Given the description of an element on the screen output the (x, y) to click on. 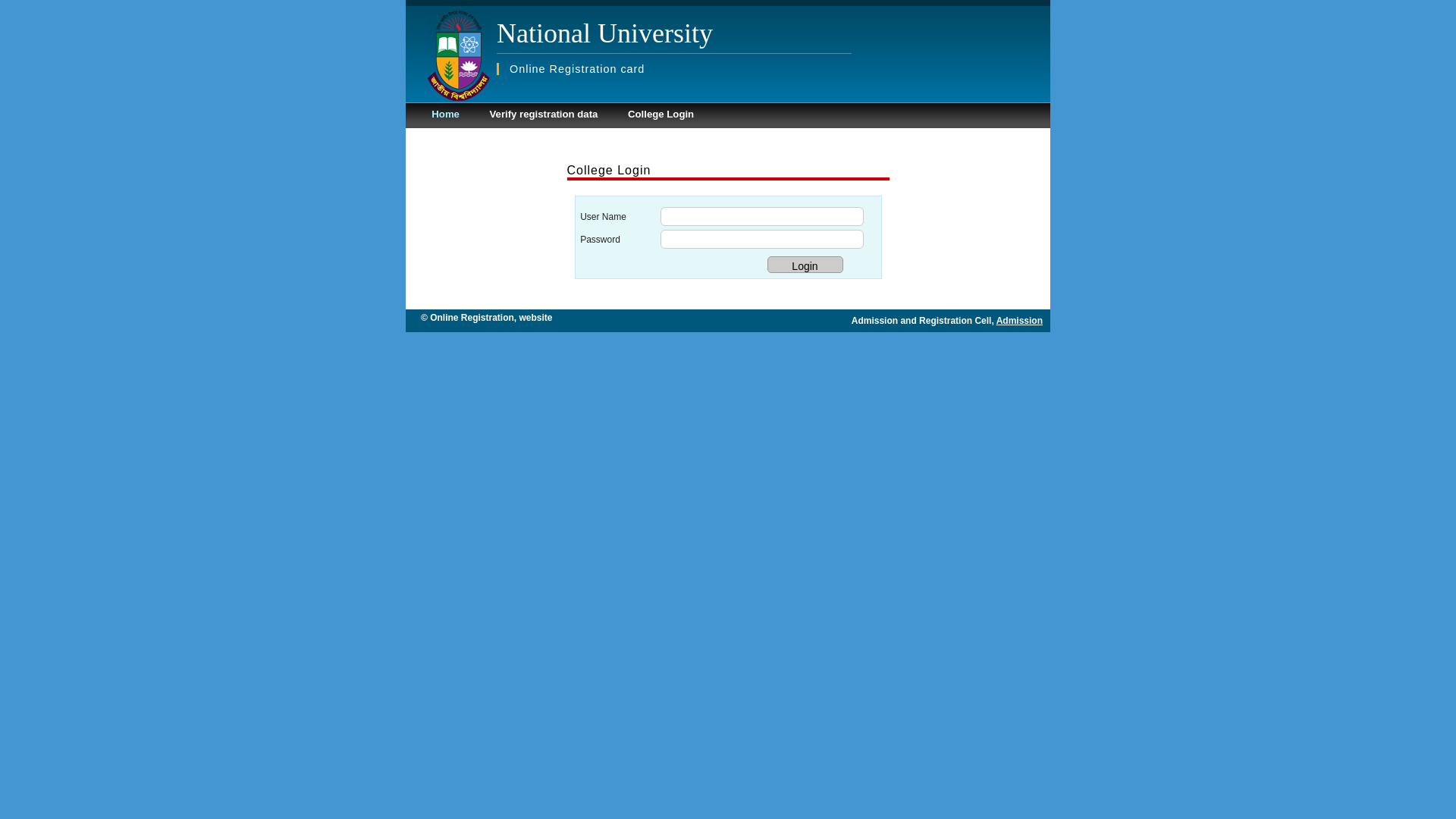
Login Element type: text (805, 264)
Admission Element type: text (1019, 320)
College Login Element type: text (661, 114)
Verify registration data Element type: text (543, 114)
National University Element type: text (604, 33)
Home Element type: text (445, 114)
